Given the description of an element on the screen output the (x, y) to click on. 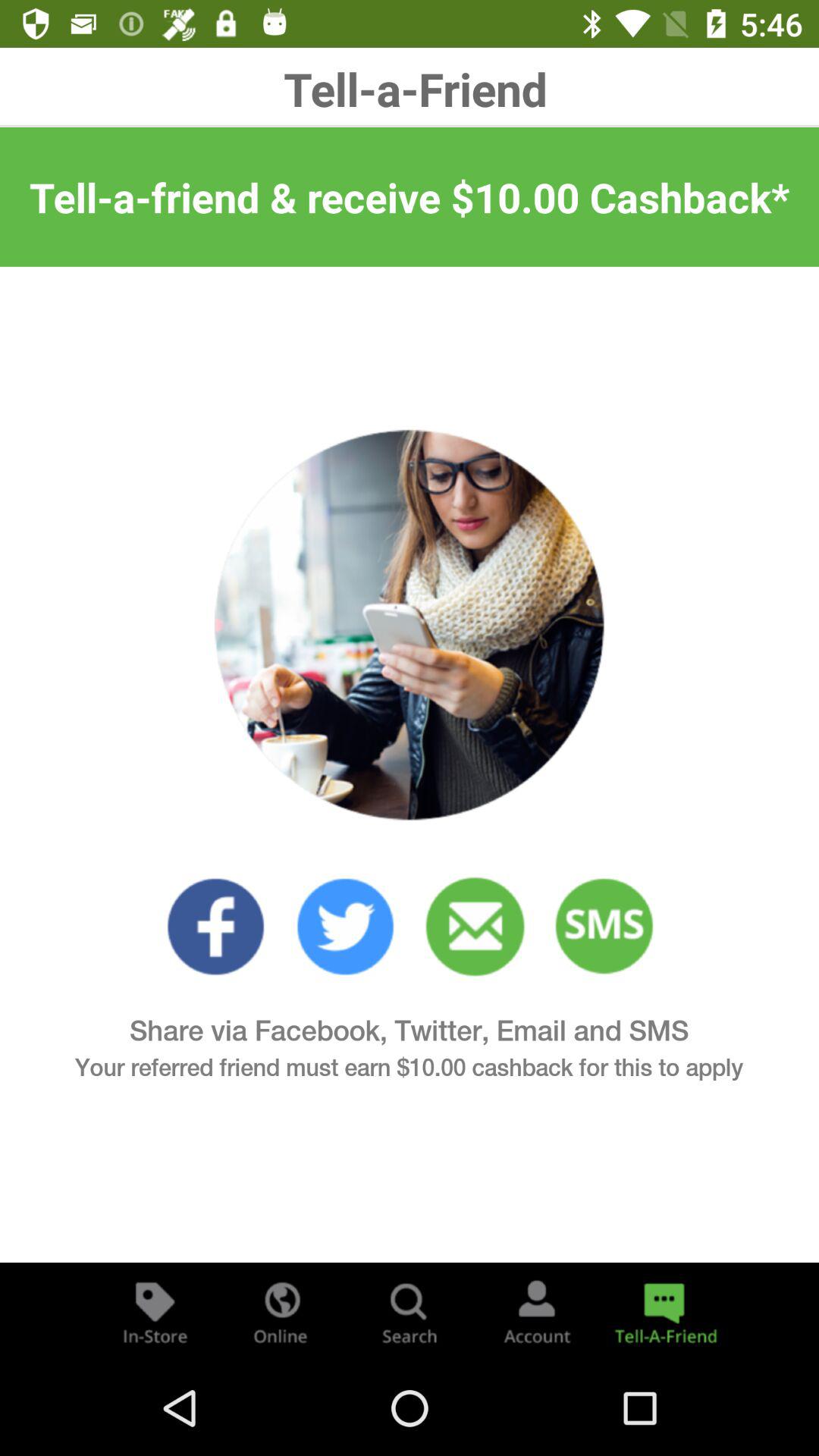
click on a site (345, 926)
